Given the description of an element on the screen output the (x, y) to click on. 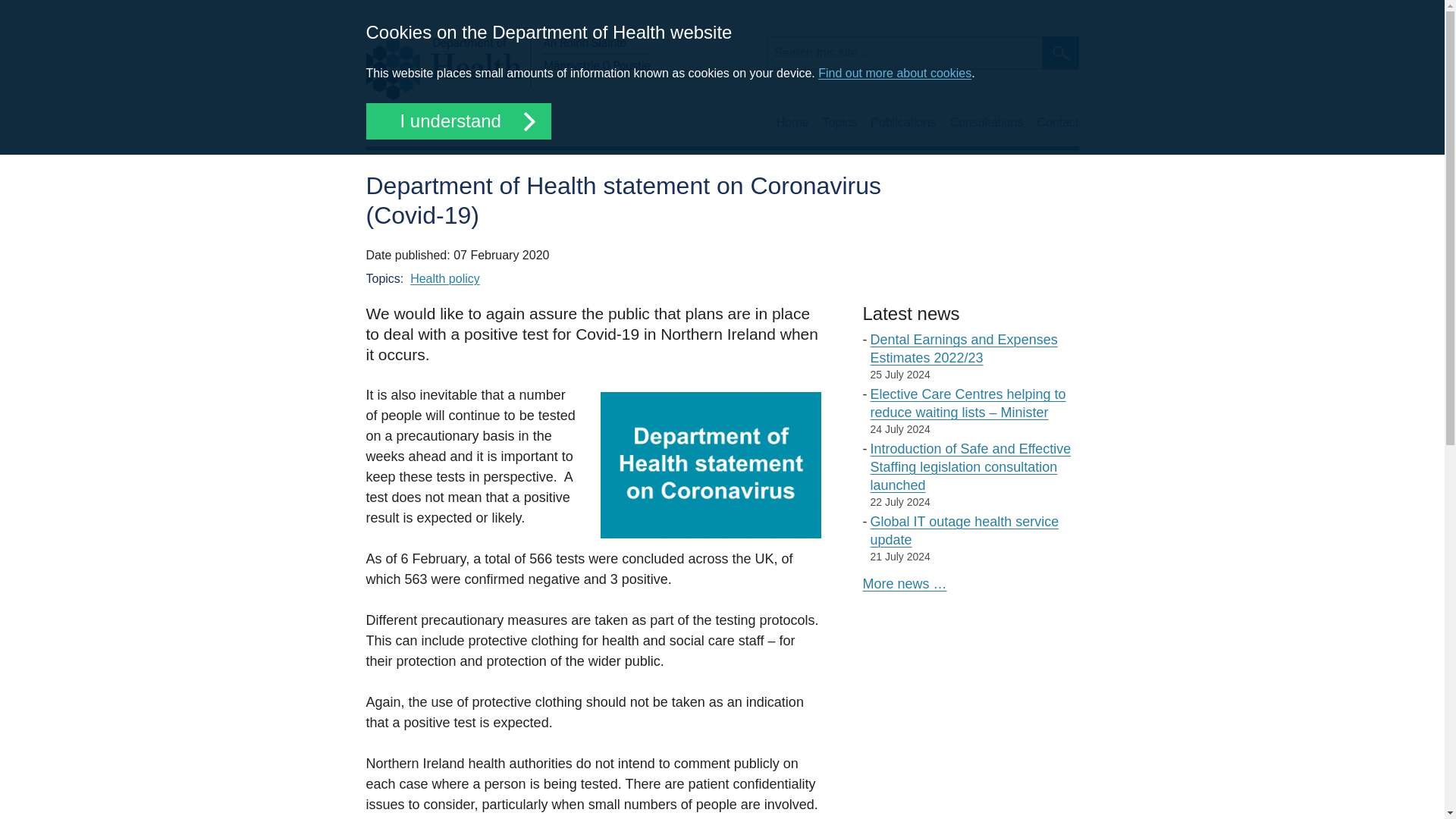
Search (1060, 52)
Consultations (986, 122)
Home (792, 122)
Publications (903, 122)
Topics (839, 122)
Find out more about cookies (894, 72)
Search (1060, 52)
Enter the terms you wish to search for (904, 52)
Global IT outage health service update (964, 530)
Home (507, 67)
I understand (457, 121)
Health policy (445, 278)
Contact (1057, 122)
